Given the description of an element on the screen output the (x, y) to click on. 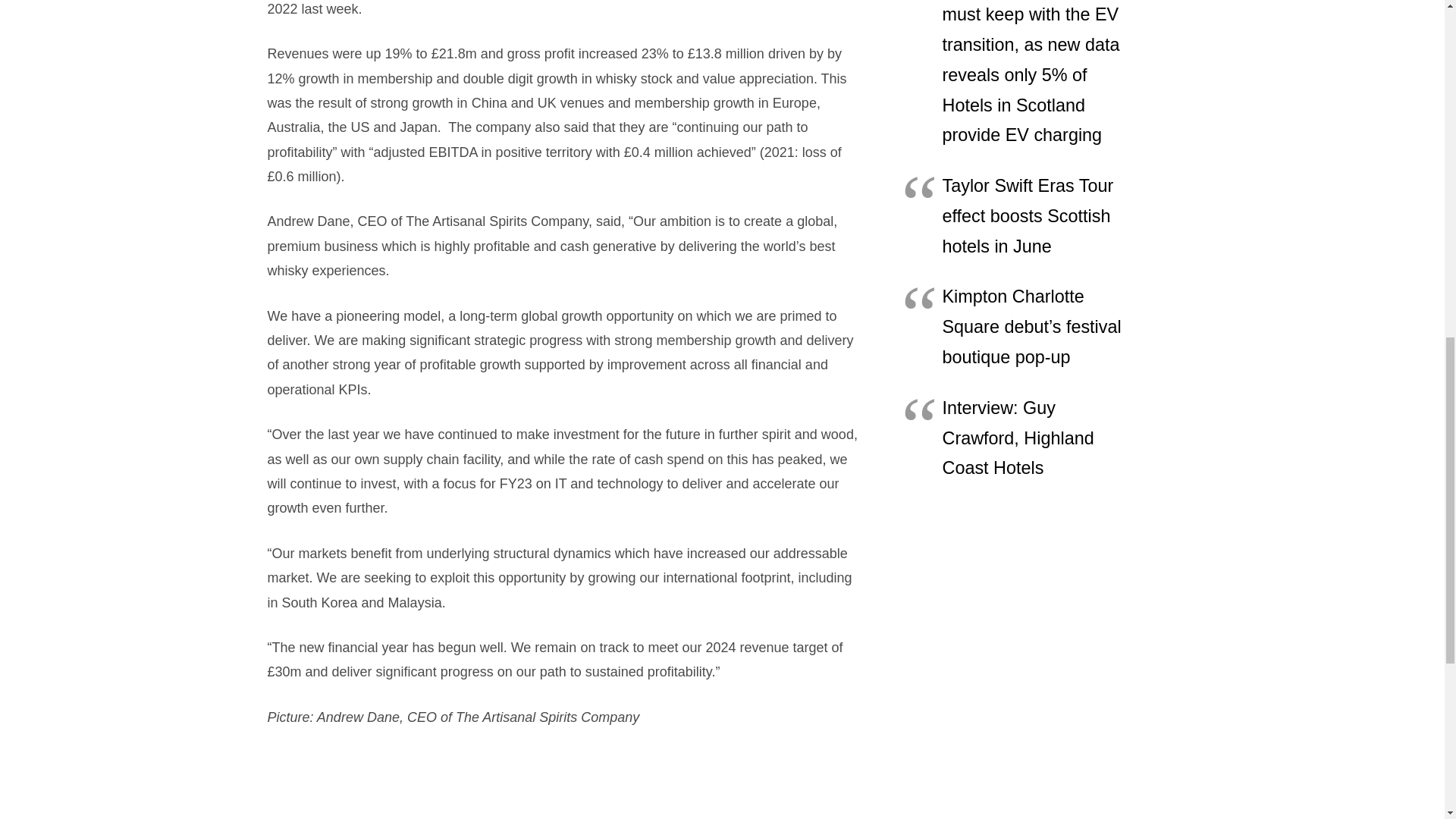
Back to top (1413, 26)
